Given the description of an element on the screen output the (x, y) to click on. 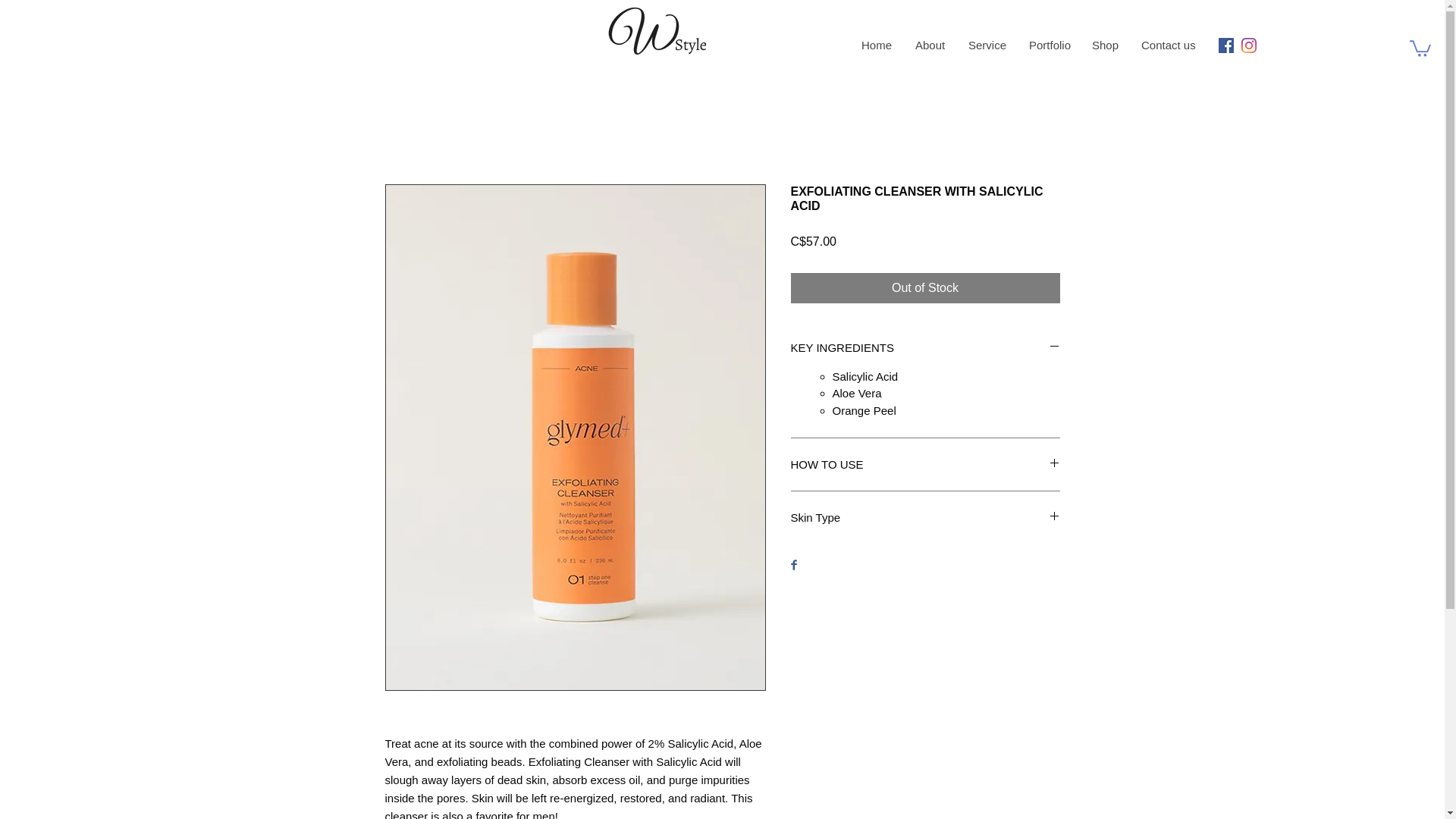
Skin Type (924, 517)
HOW TO USE (924, 464)
Service (986, 45)
Shop (1104, 45)
Out of Stock (924, 287)
About (929, 45)
Contact us (1168, 45)
KEY INGREDIENTS (924, 347)
Home (875, 45)
